Given the description of an element on the screen output the (x, y) to click on. 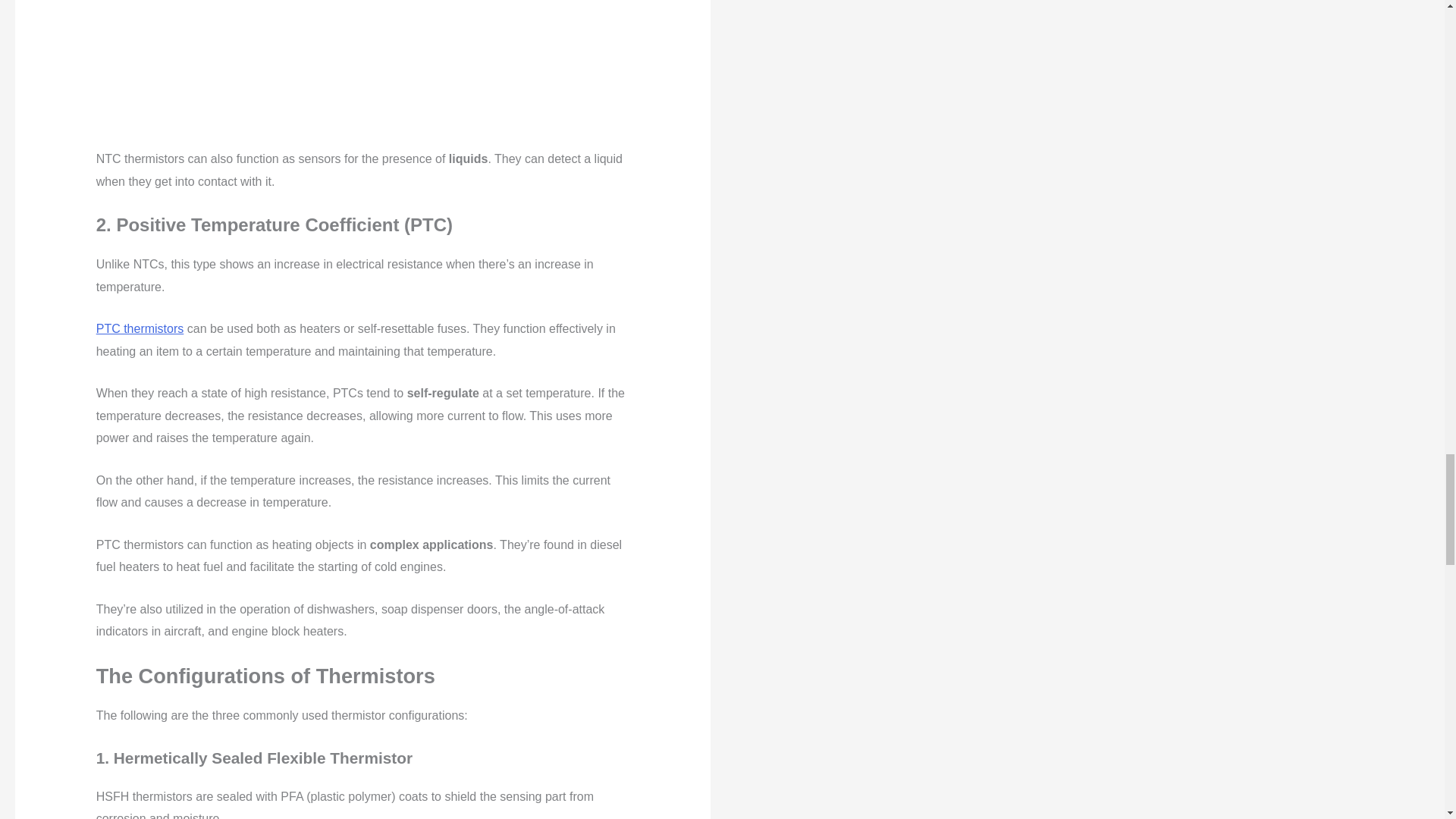
What is a Thermistor (363, 74)
PTC thermistors (140, 328)
